Given the description of an element on the screen output the (x, y) to click on. 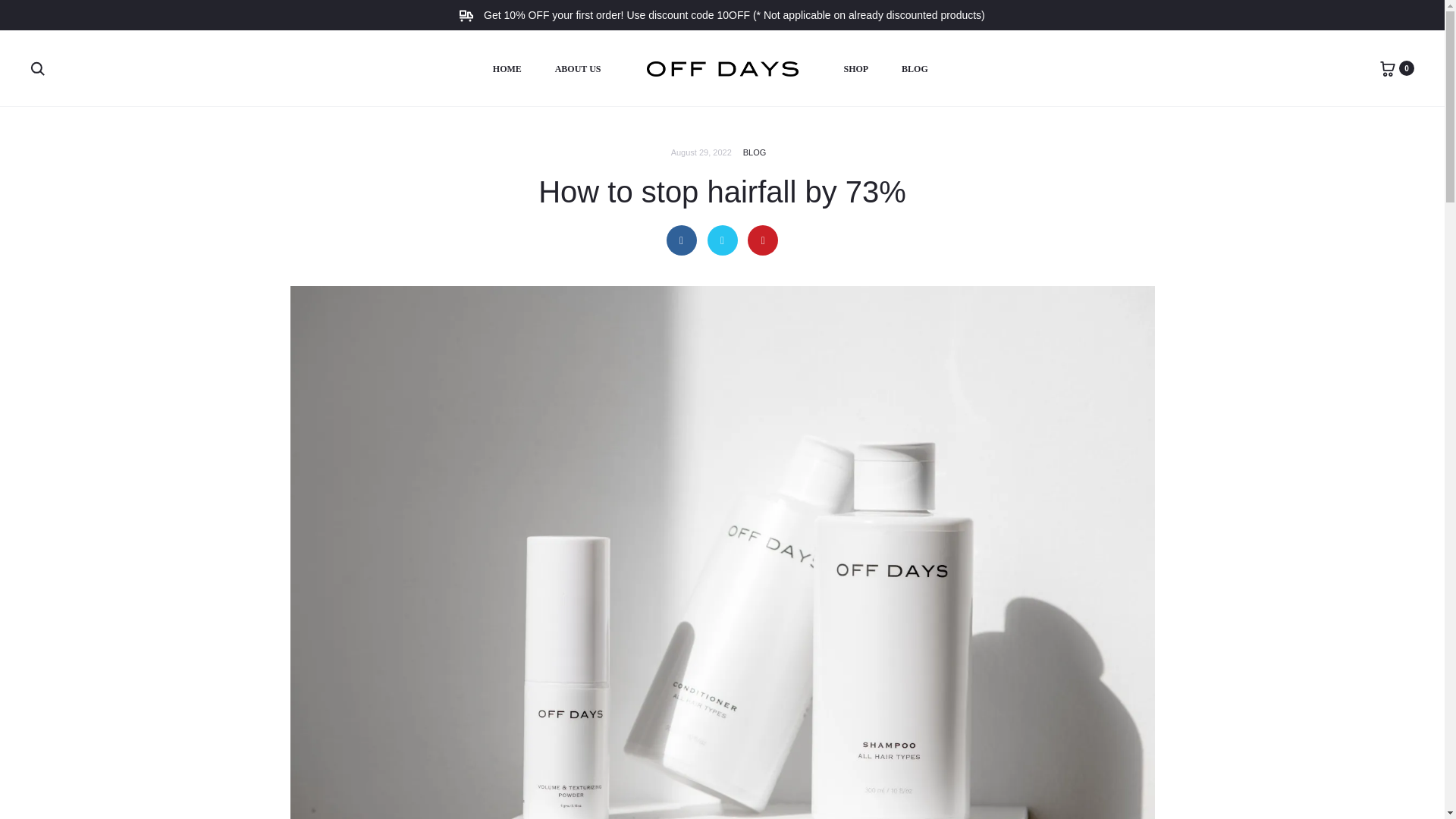
0 (1387, 68)
HOME (507, 69)
BLOG (914, 69)
BLOG (754, 152)
SHOP (855, 69)
ABOUT US (577, 69)
